Given the description of an element on the screen output the (x, y) to click on. 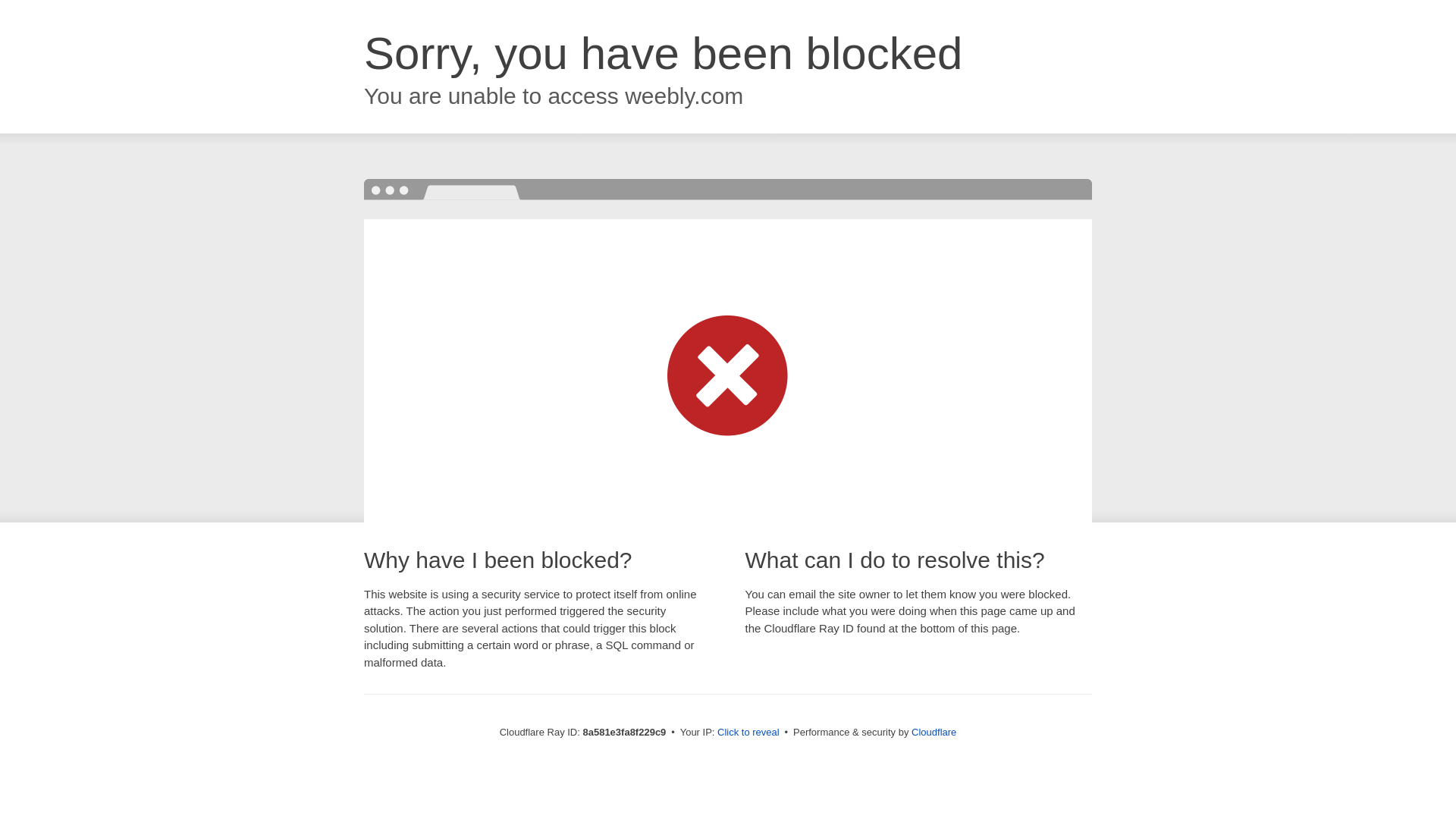
Cloudflare (933, 731)
Click to reveal (747, 732)
